Given the description of an element on the screen output the (x, y) to click on. 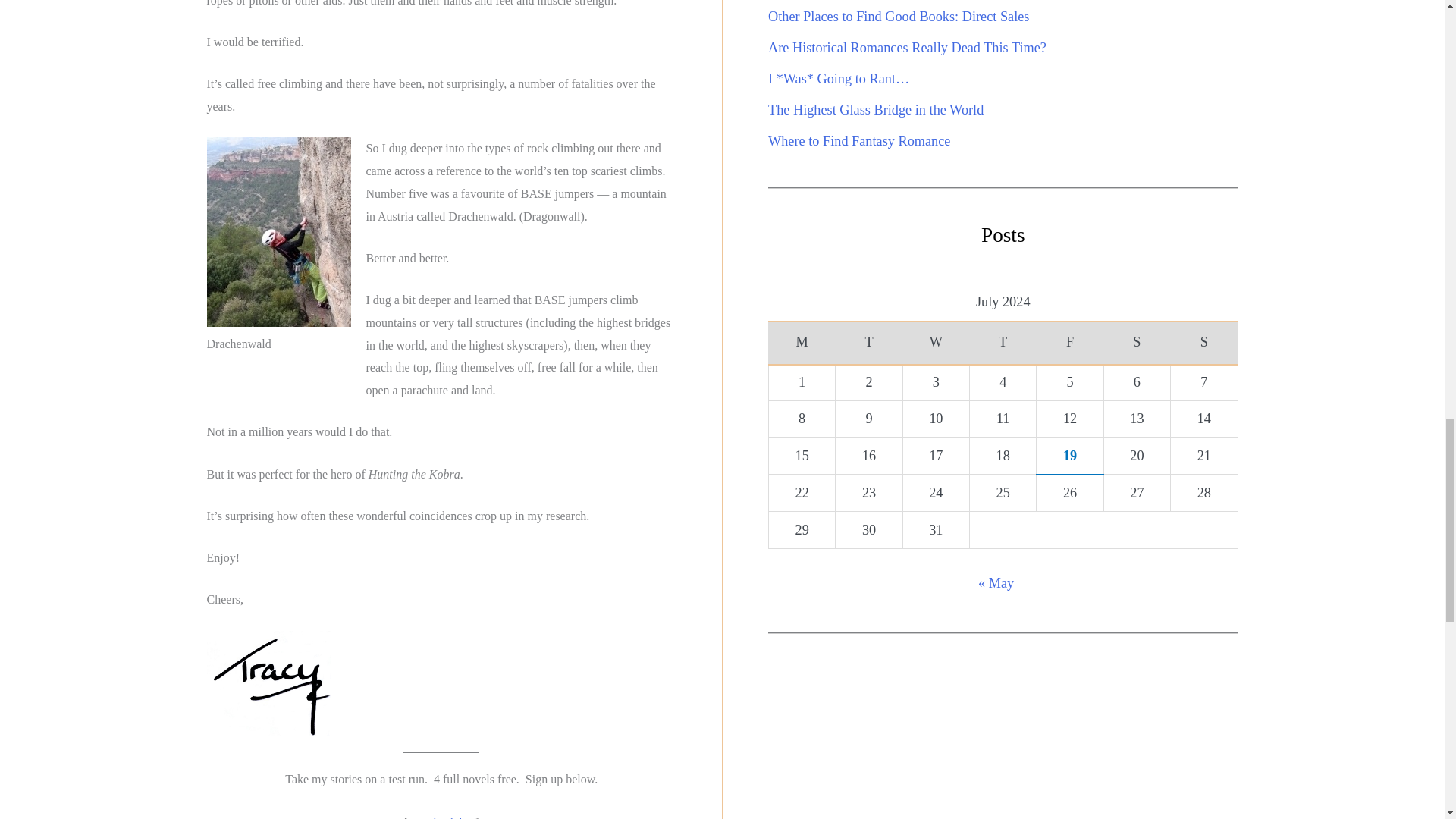
Wednesday (935, 342)
Monday (801, 342)
Tuesday (868, 342)
Friday (1069, 342)
Thursday (1002, 342)
Sunday (1203, 342)
Saturday (1136, 342)
